Given the description of an element on the screen output the (x, y) to click on. 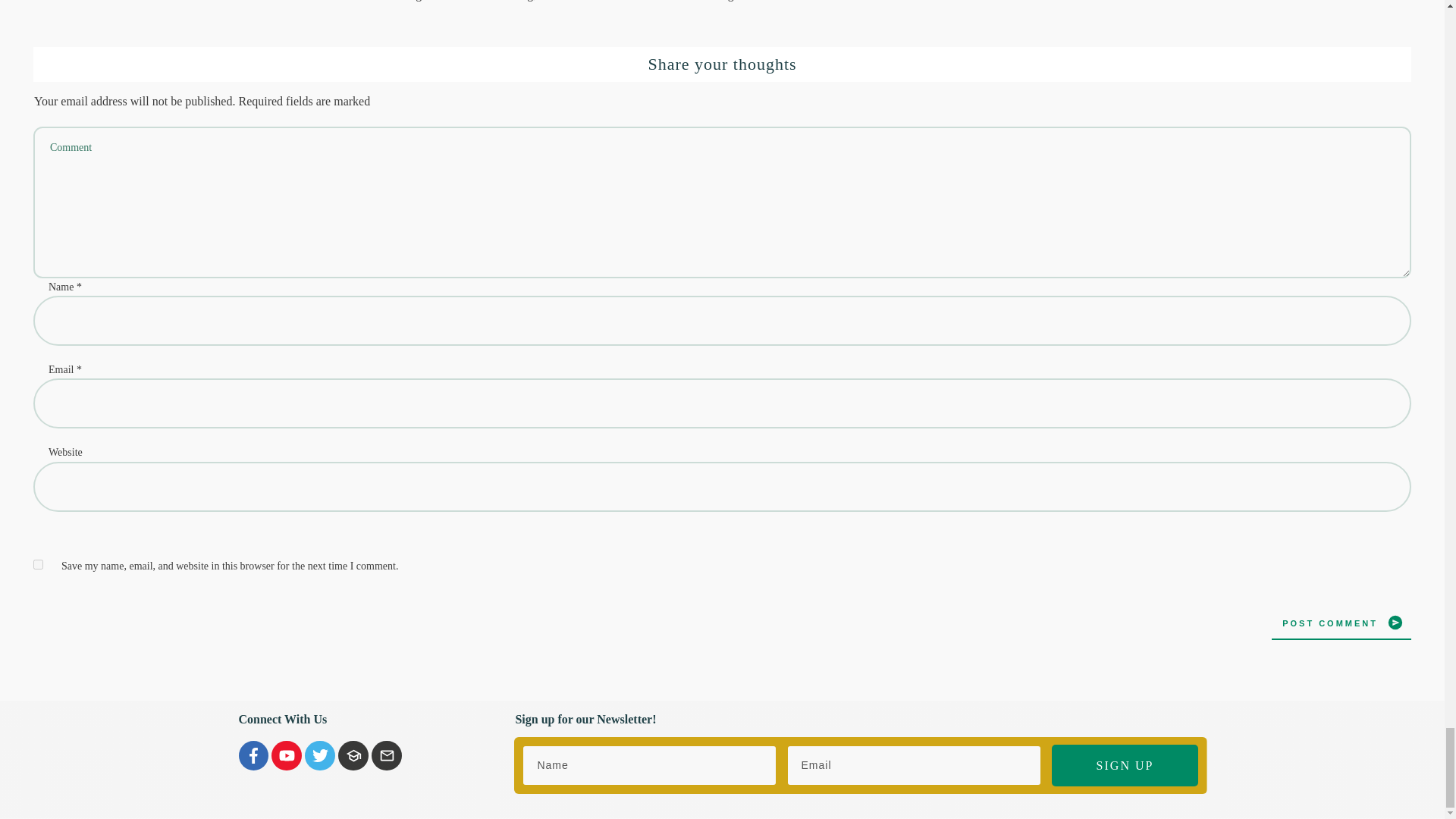
POST COMMENT (1340, 622)
yes (38, 564)
click here (563, 0)
SIGN UP (1123, 765)
